Given the description of an element on the screen output the (x, y) to click on. 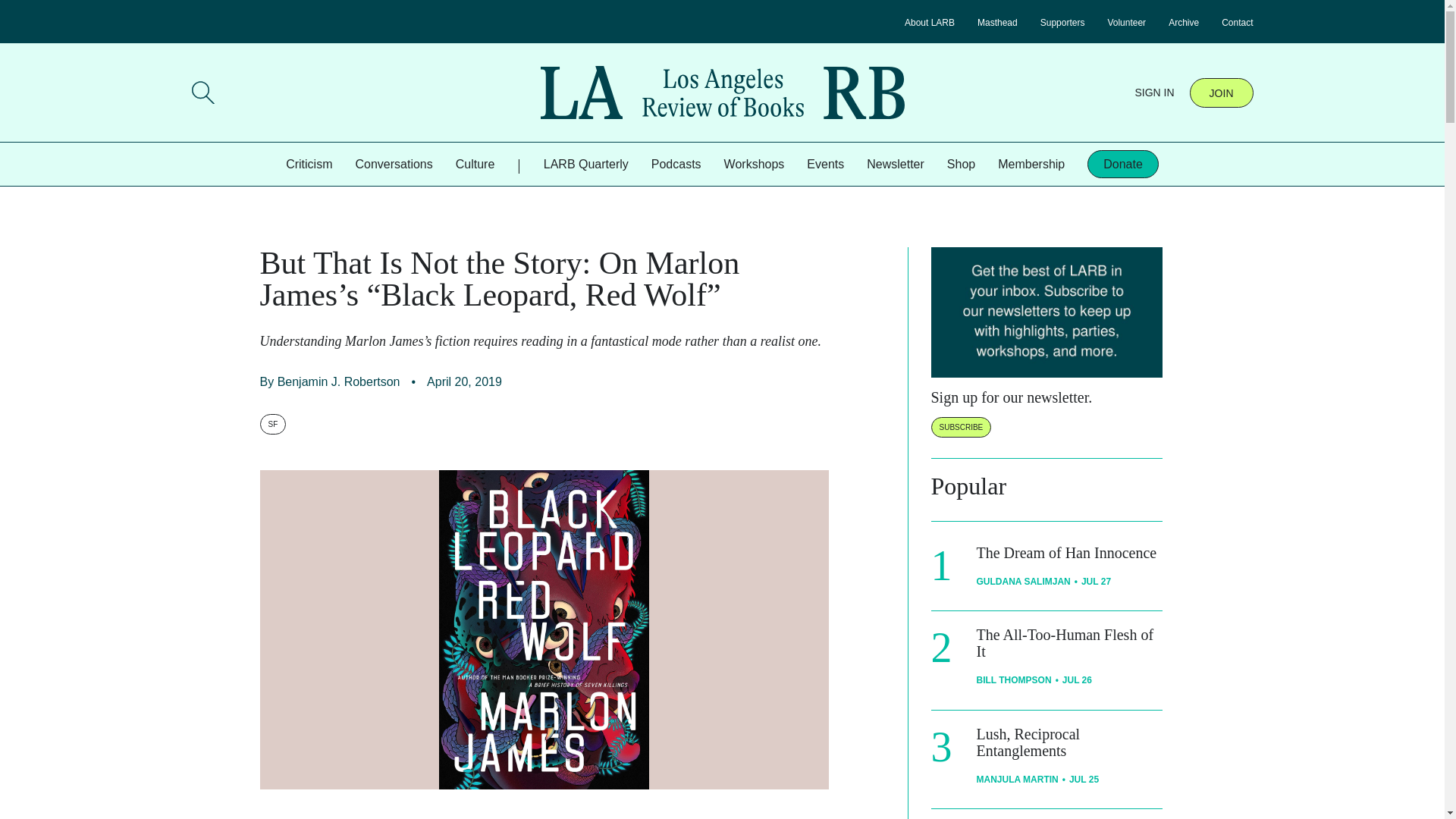
Volunteer (1125, 22)
Conversations (393, 163)
Donate (1122, 163)
Culture (475, 163)
SF (272, 424)
SIGN IN (1153, 92)
Newsletter (895, 163)
Benjamin J. Robertson (339, 381)
About LARB (929, 22)
JOIN (1221, 91)
Contact (1236, 22)
Workshops (753, 163)
LARB Quarterly (585, 163)
Criticism (308, 163)
Podcasts (675, 163)
